Given the description of an element on the screen output the (x, y) to click on. 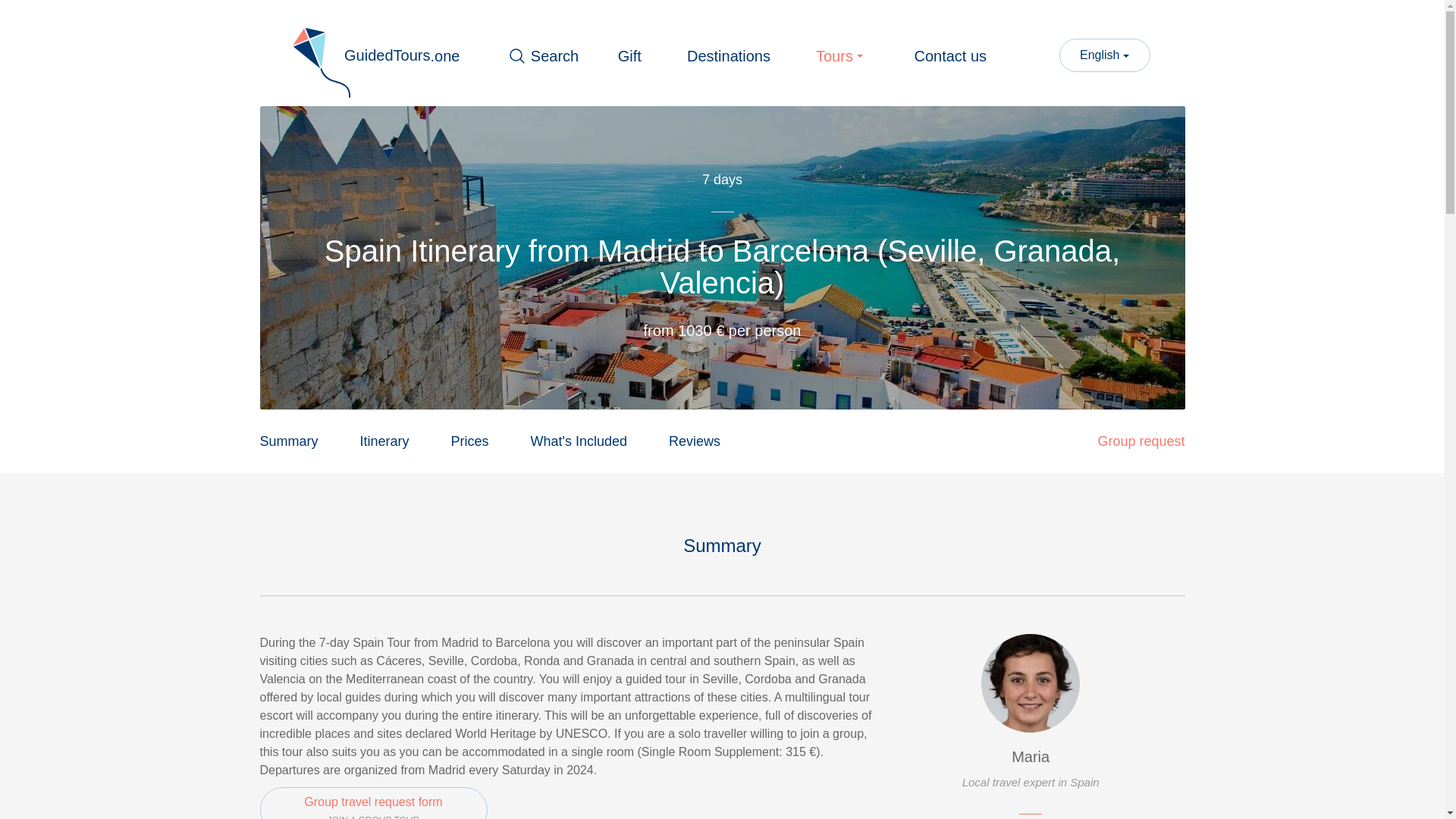
Tours (841, 55)
Gift (372, 803)
GuidedTours.one (629, 55)
Reviews (373, 56)
Itinerary (694, 441)
Prices (384, 441)
English (470, 441)
Summary (1104, 55)
What's Included (288, 441)
Destinations (579, 441)
Group request (728, 55)
Contact us (1141, 441)
